Given the description of an element on the screen output the (x, y) to click on. 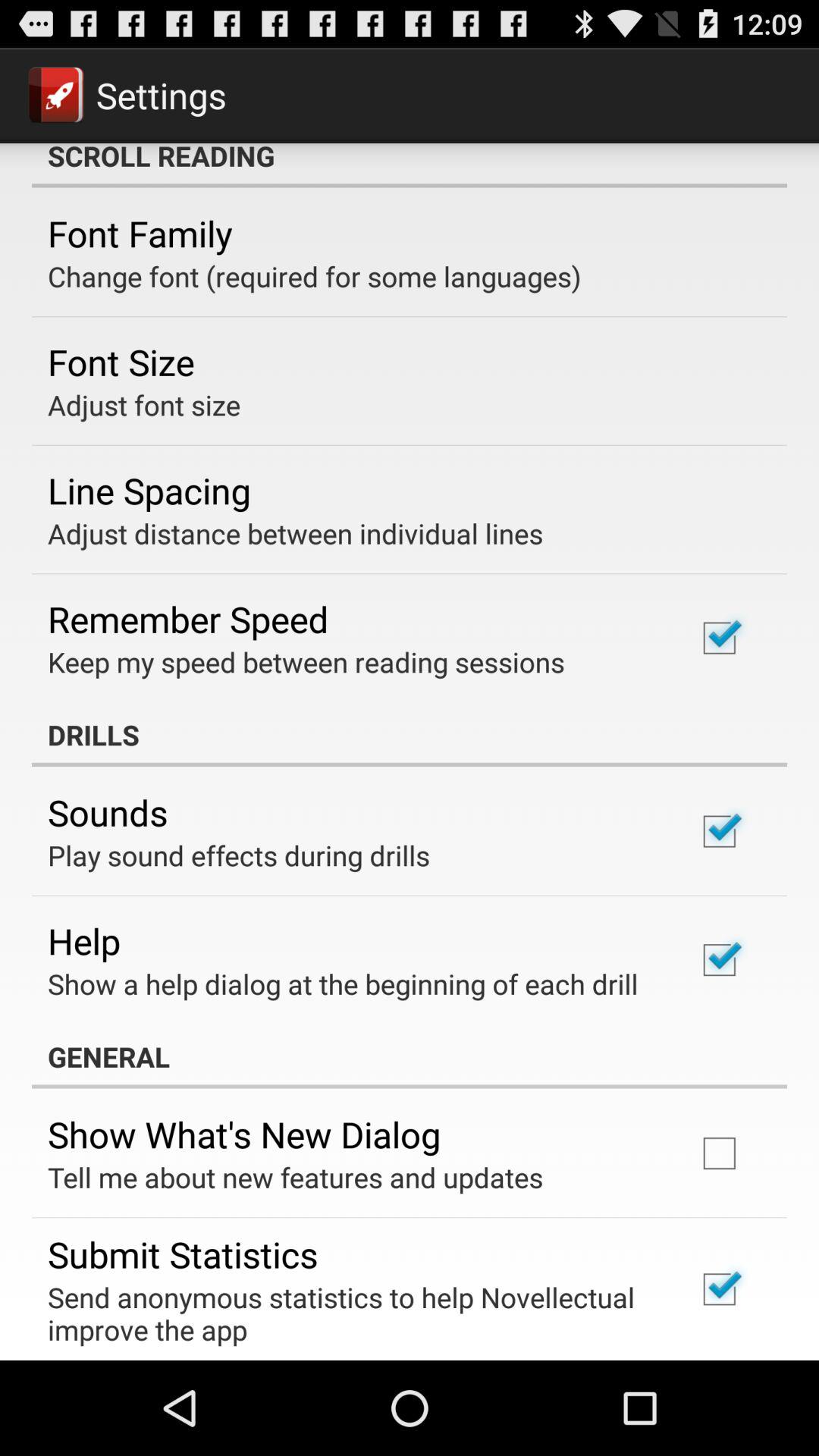
launch app above tell me about item (243, 1134)
